Given the description of an element on the screen output the (x, y) to click on. 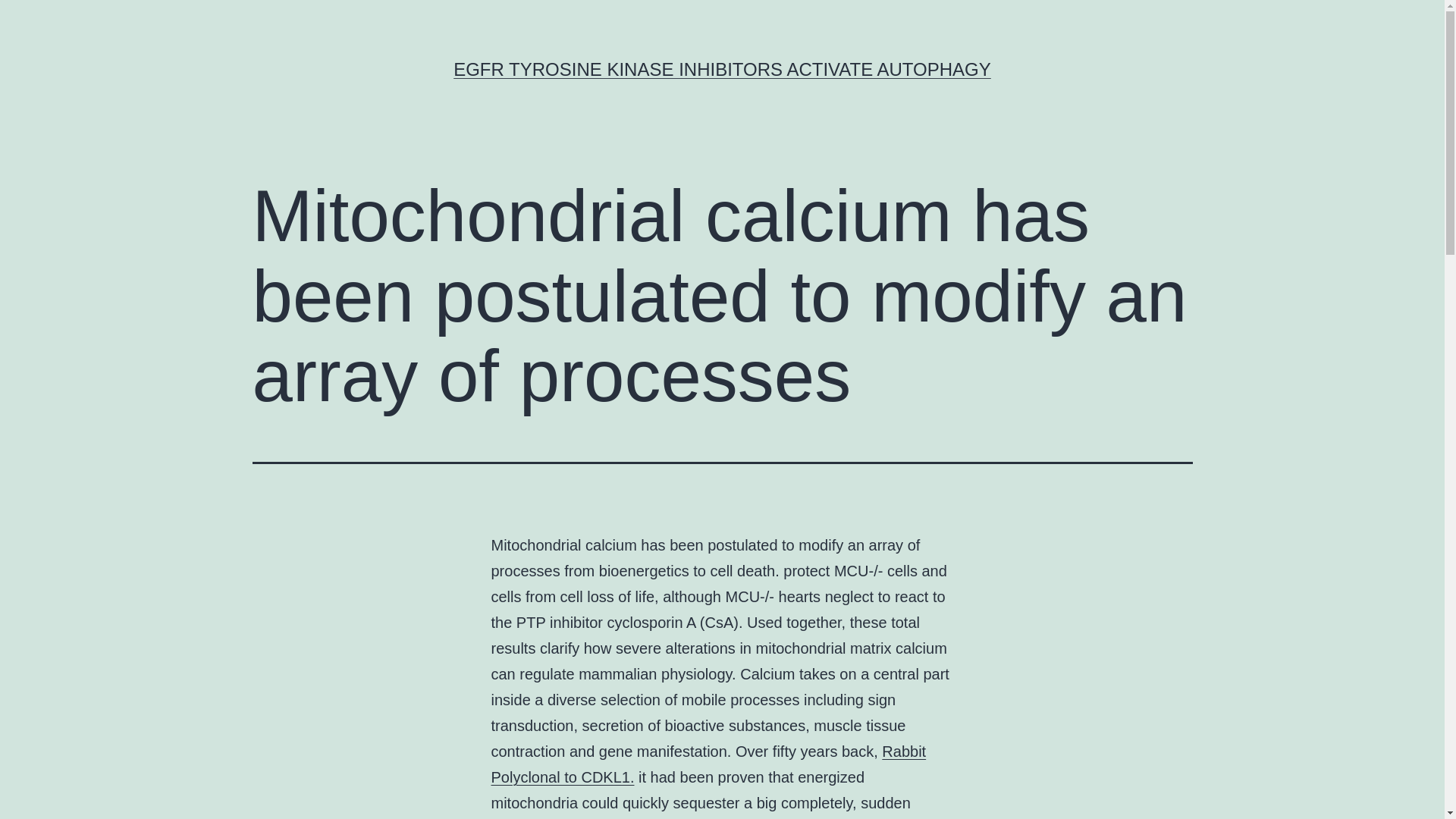
EGFR TYROSINE KINASE INHIBITORS ACTIVATE AUTOPHAGY (721, 68)
Rabbit Polyclonal to CDKL1. (709, 763)
